Given the description of an element on the screen output the (x, y) to click on. 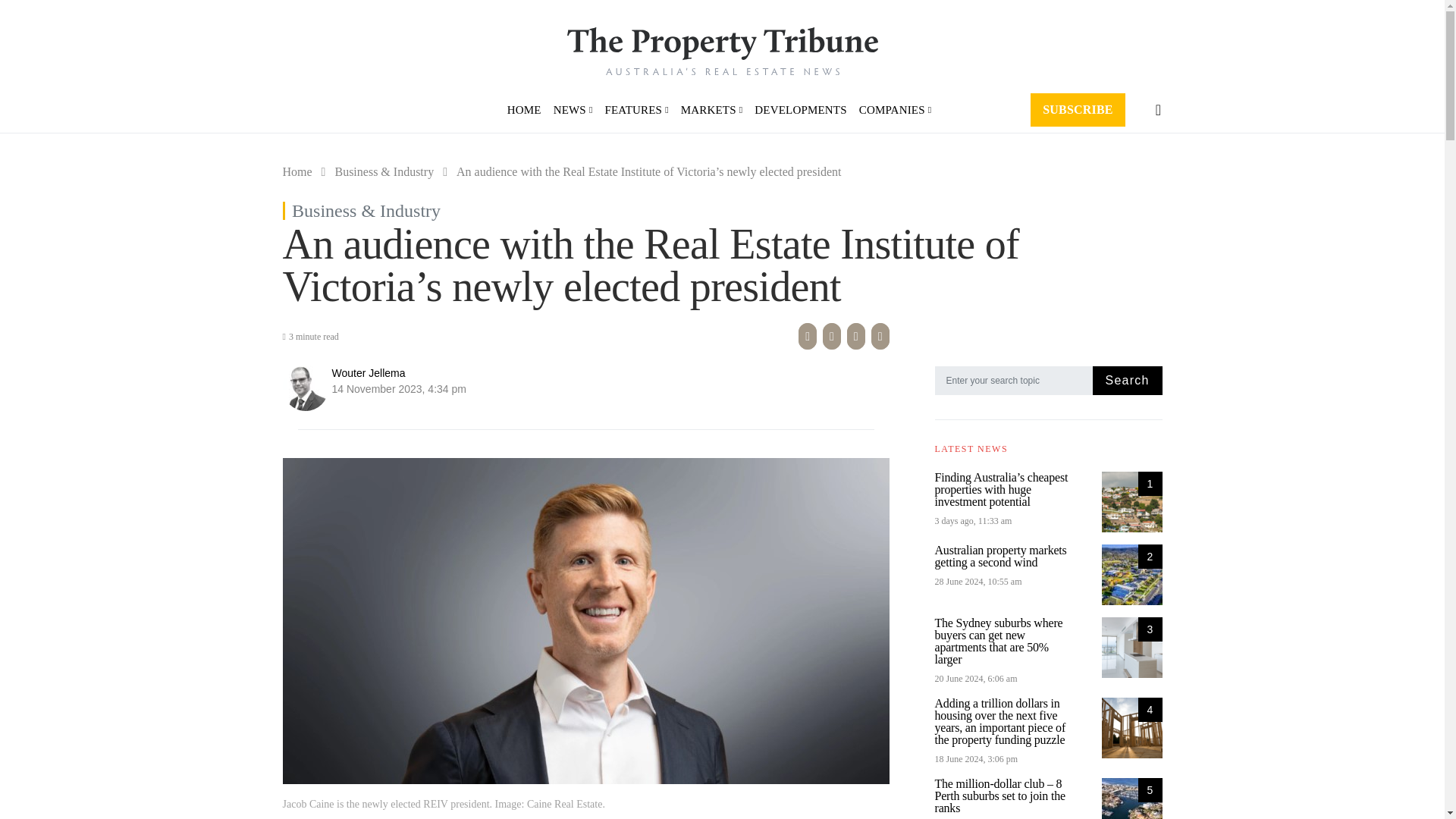
HOME (526, 109)
NEWS (572, 109)
